Given the description of an element on the screen output the (x, y) to click on. 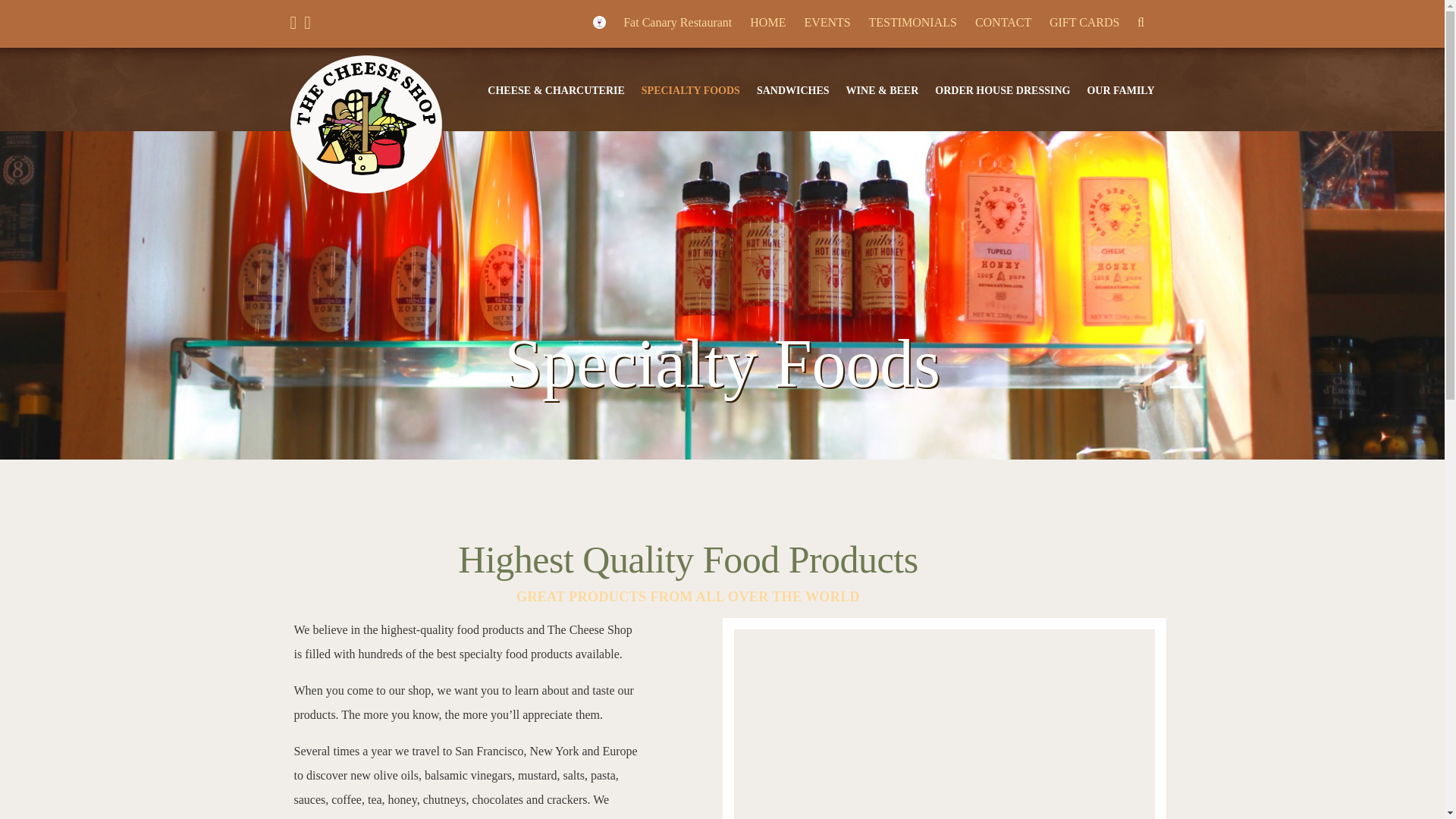
CONTACT (1002, 21)
GIFT CARDS (1084, 21)
HOME (767, 21)
Fat Canary Restaurant (662, 21)
SANDWICHES (793, 90)
OUR FAMILY (1120, 90)
ORDER HOUSE DRESSING (1002, 90)
EVENTS (826, 21)
TESTIMONIALS (911, 21)
SPECIALTY FOODS (690, 90)
